Given the description of an element on the screen output the (x, y) to click on. 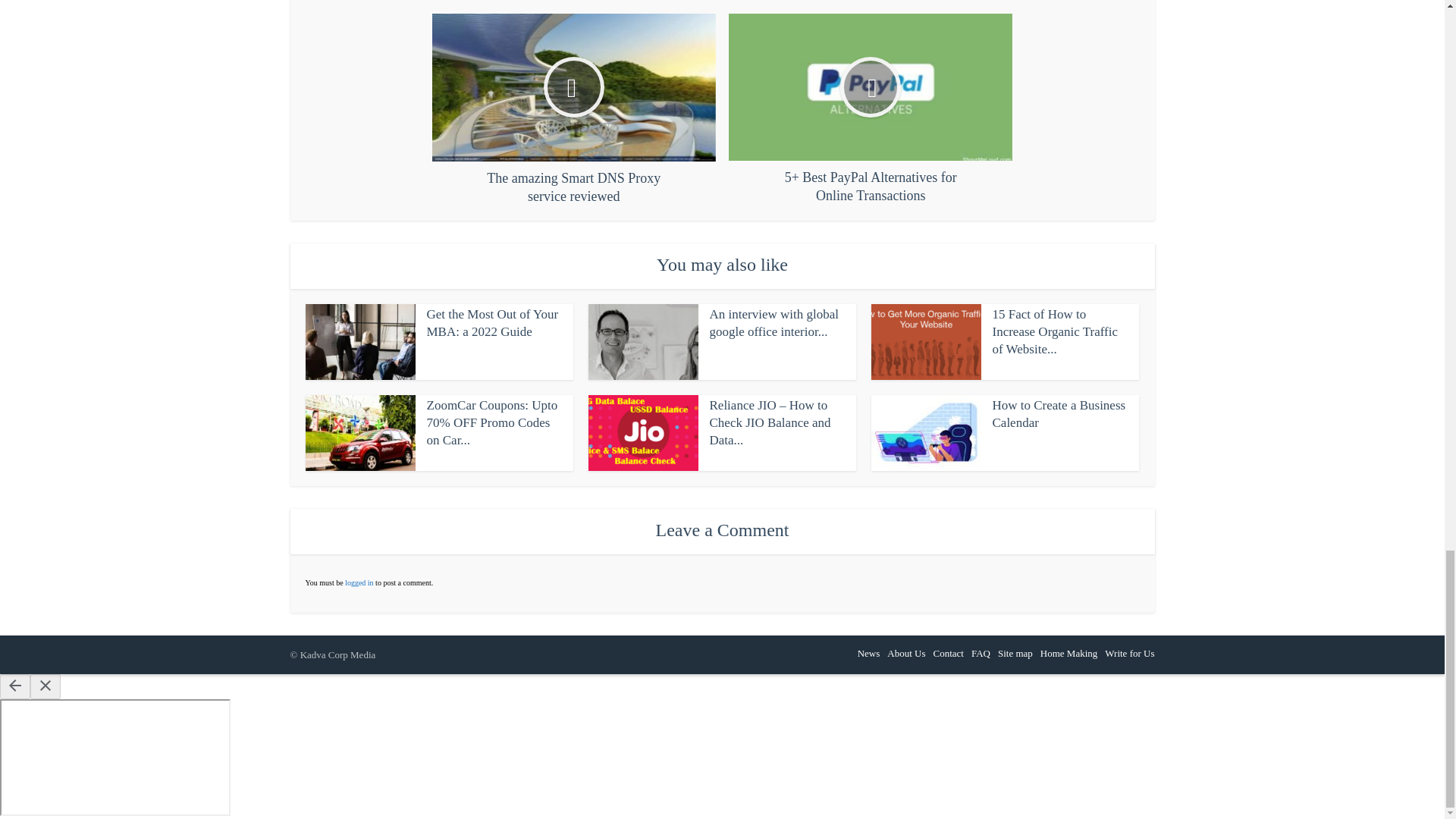
An interview with global google office interior... (774, 323)
15 Fact of How to Increase Organic Traffic of Website... (1054, 331)
Get the Most Out of Your MBA: a 2022 Guide (491, 323)
Get the Most Out of Your MBA: a 2022 Guide (491, 323)
The amazing Smart DNS Proxy service reviewed (574, 109)
